Given the description of an element on the screen output the (x, y) to click on. 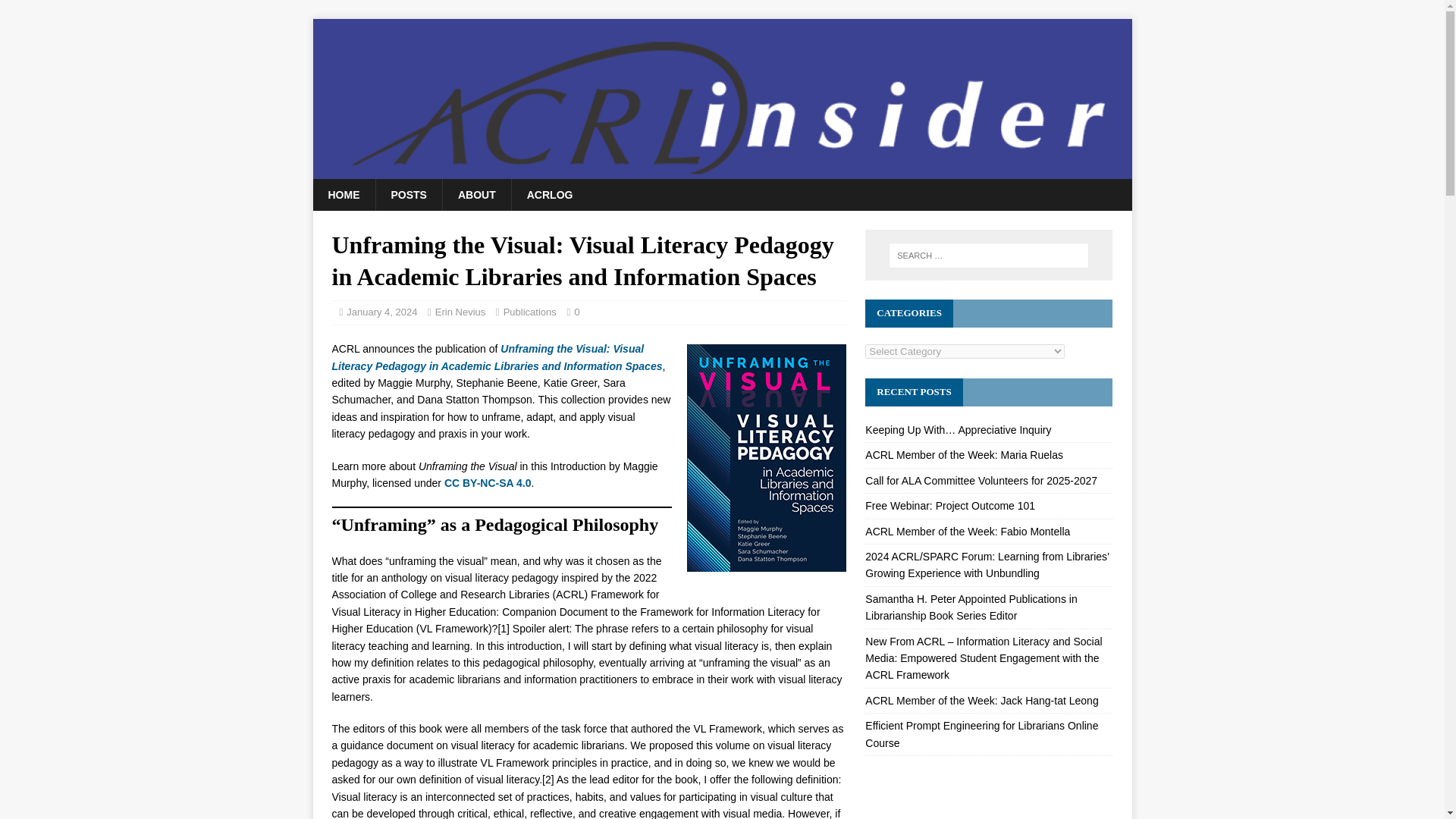
Publications (529, 311)
ACRL Insider (722, 169)
ACRLOG (549, 194)
HOME (343, 194)
POSTS (407, 194)
ABOUT (476, 194)
Erin Nevius (459, 311)
CC BY-NC-SA 4.0 (487, 482)
January 4, 2024 (381, 311)
